Given the description of an element on the screen output the (x, y) to click on. 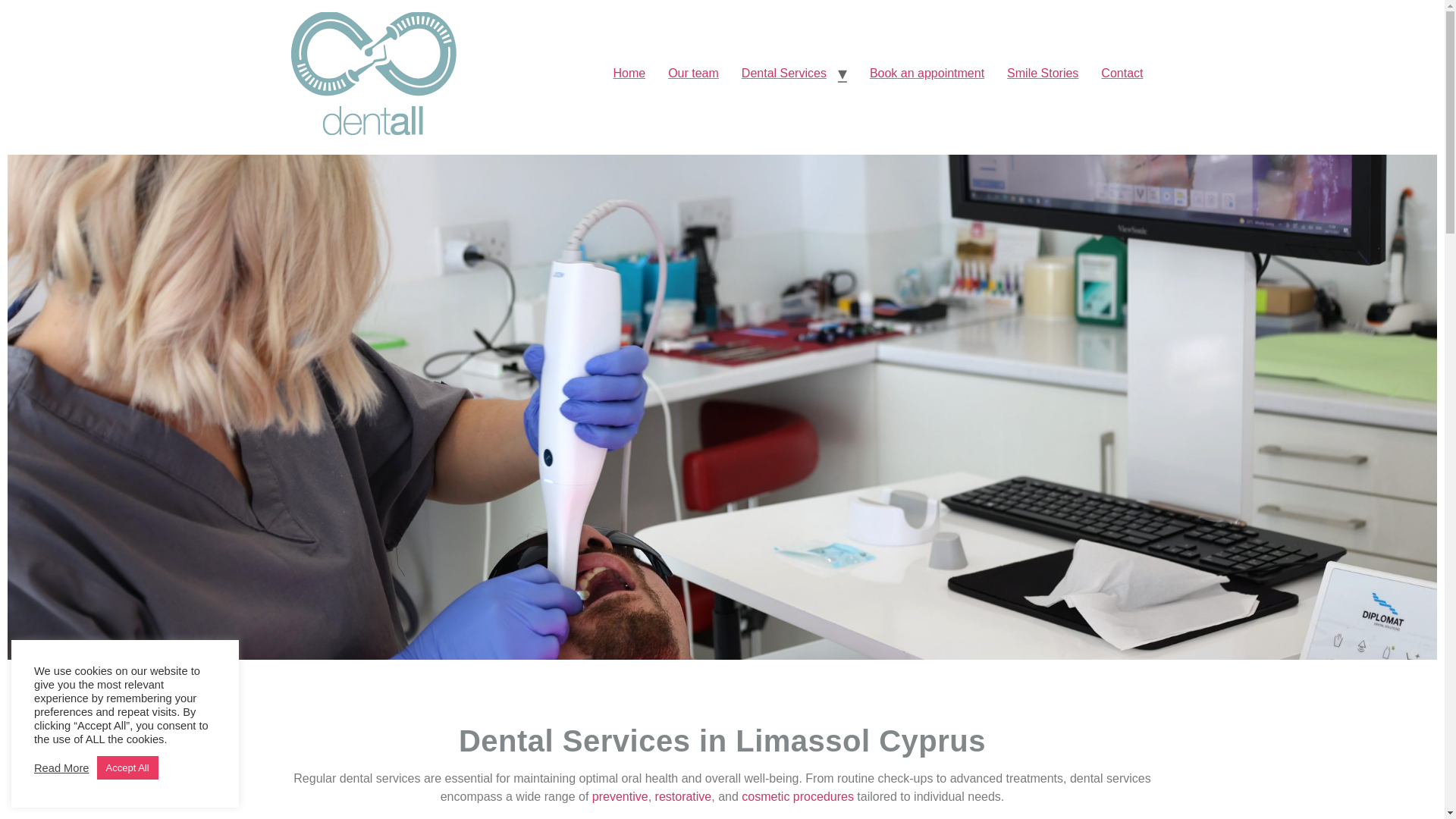
preventive (619, 796)
restorative (683, 796)
Book an appointment (927, 73)
Home (628, 73)
Contact (1121, 73)
cosmetic procedures (797, 796)
Dental Services (784, 73)
Our team (693, 73)
Smile Stories (1042, 73)
